Given the description of an element on the screen output the (x, y) to click on. 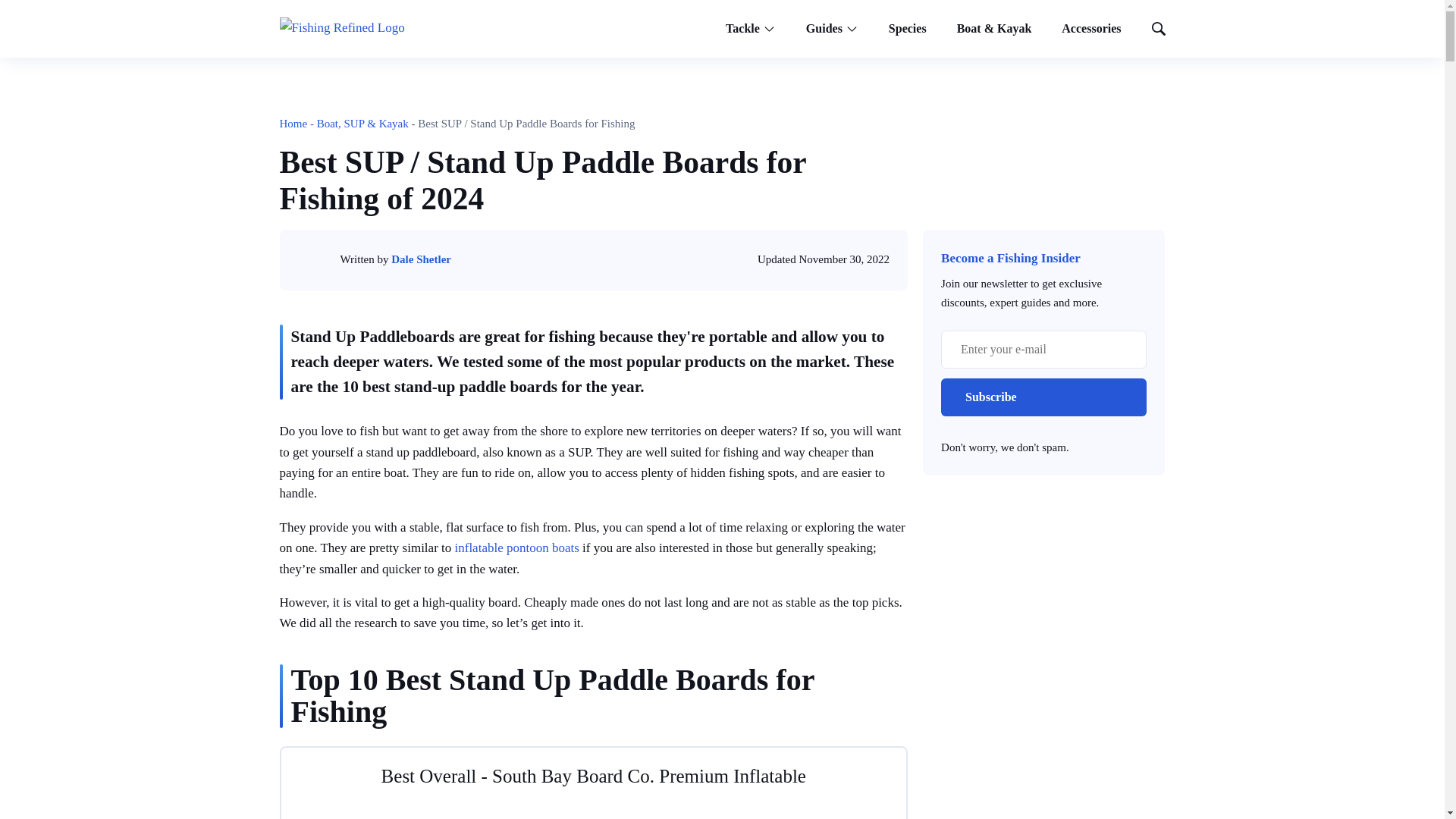
Subscribe (1043, 397)
inflatable pontoon boats (515, 547)
Accessories (1090, 28)
Dale Shetler (421, 259)
Home (293, 123)
Species (907, 28)
